Given the description of an element on the screen output the (x, y) to click on. 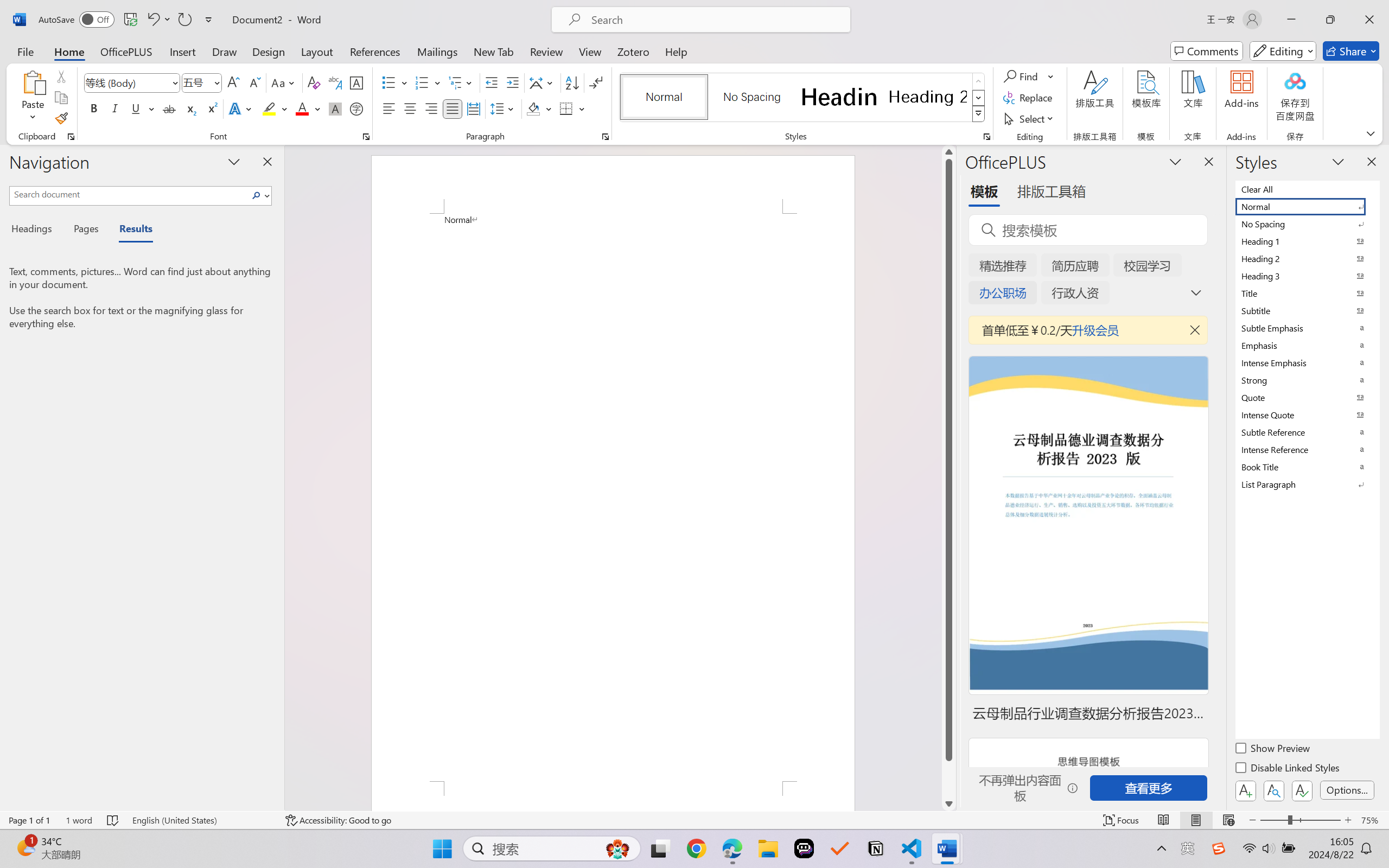
Zotero (632, 51)
AutoSave (76, 19)
Minimize (1291, 19)
Font (126, 82)
Font (132, 82)
Find (1029, 75)
No Spacing (1306, 223)
Strong (1306, 379)
Print Layout (1196, 819)
Superscript (210, 108)
AutomationID: DynamicSearchBoxGleamImage (617, 848)
